Given the description of an element on the screen output the (x, y) to click on. 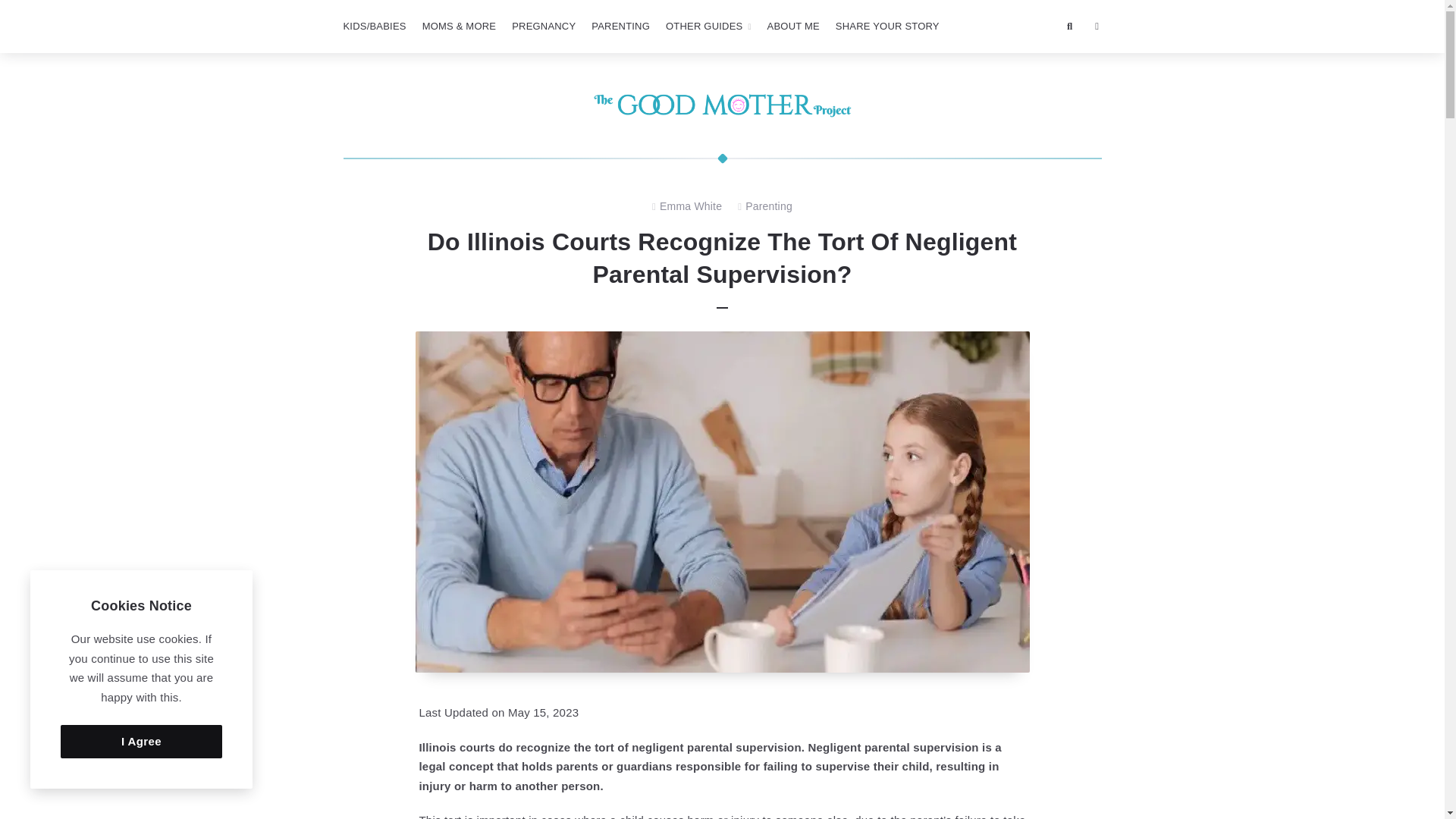
Parenting (768, 207)
PREGNANCY (543, 26)
Emma White (690, 207)
ABOUT ME (793, 26)
PARENTING (620, 26)
OTHER GUIDES (708, 26)
SHARE YOUR STORY (888, 26)
